Given the description of an element on the screen output the (x, y) to click on. 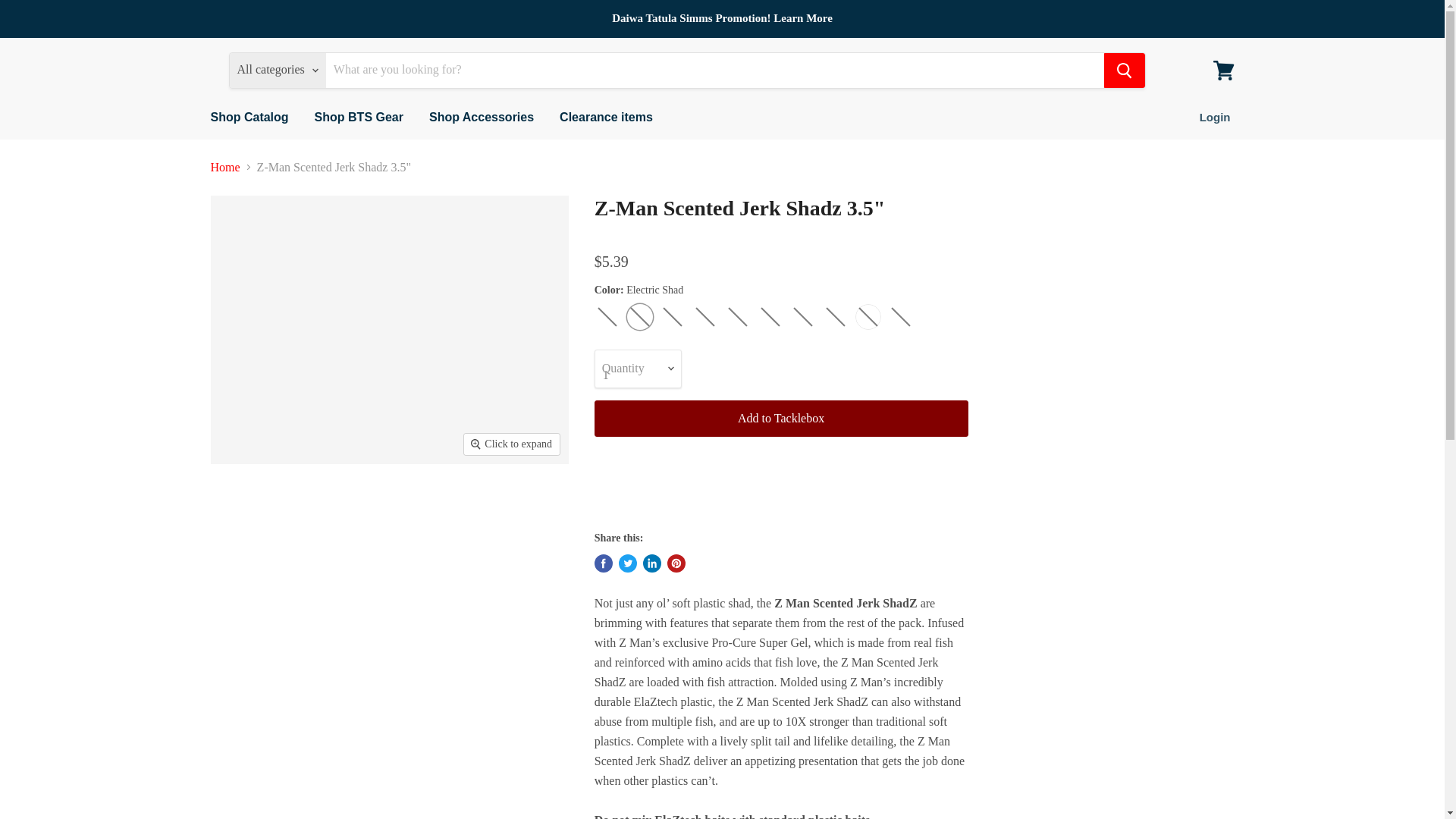
Home (225, 167)
Shop Accessories (480, 117)
Share on LinkedIn (652, 563)
Pin on Pinterest (675, 563)
View cart (1223, 70)
Shop Catalog (248, 117)
Click to expand (511, 444)
Tweet on Twitter (627, 563)
Login (1215, 117)
Add to Tacklebox (781, 418)
